Given the description of an element on the screen output the (x, y) to click on. 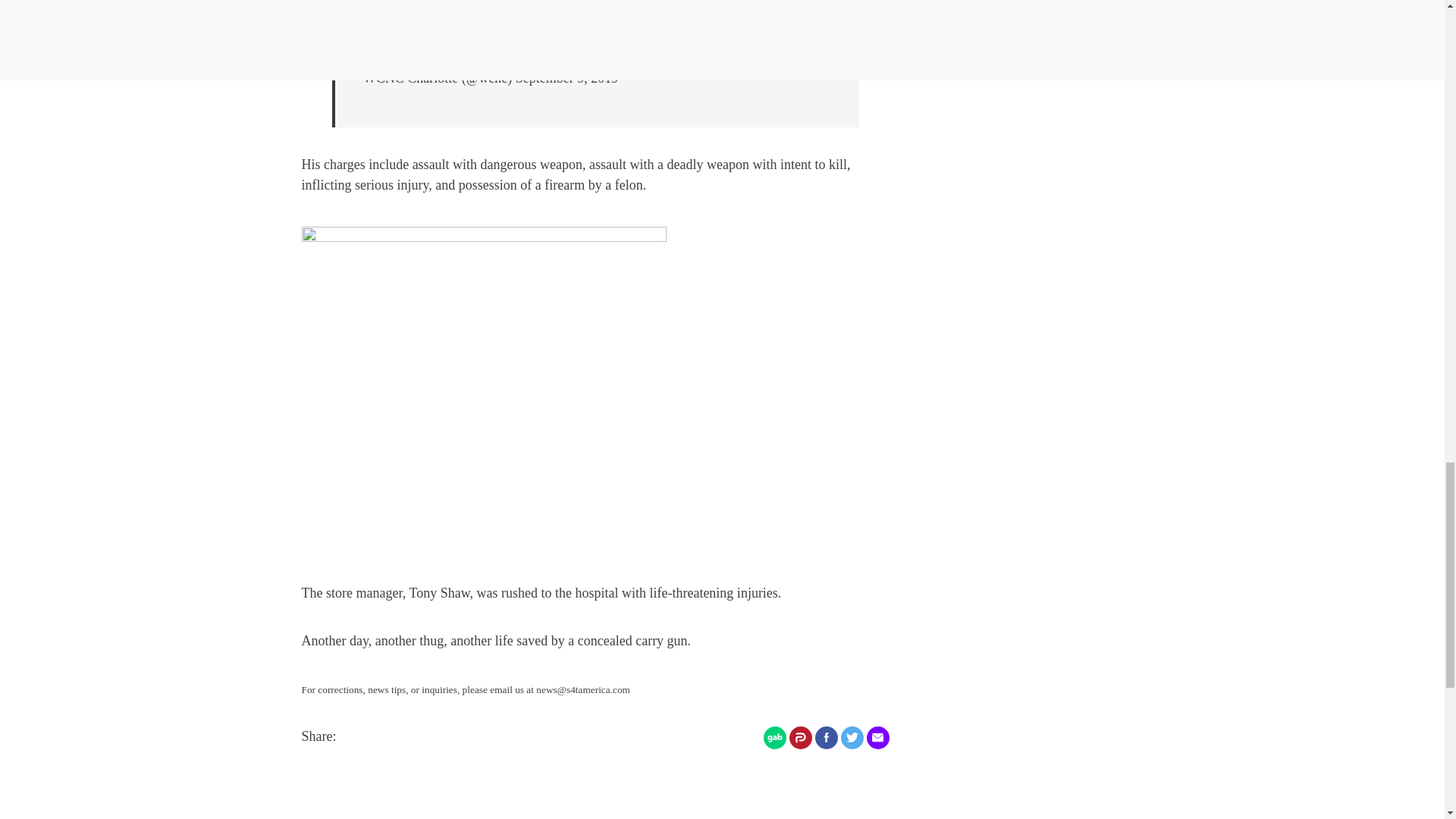
Share on Twitter (851, 737)
Share on Facebook (825, 737)
Share on Parler (799, 737)
September 9, 2019 (566, 77)
Share via Email (877, 737)
Share on Gab (774, 737)
